Given the description of an element on the screen output the (x, y) to click on. 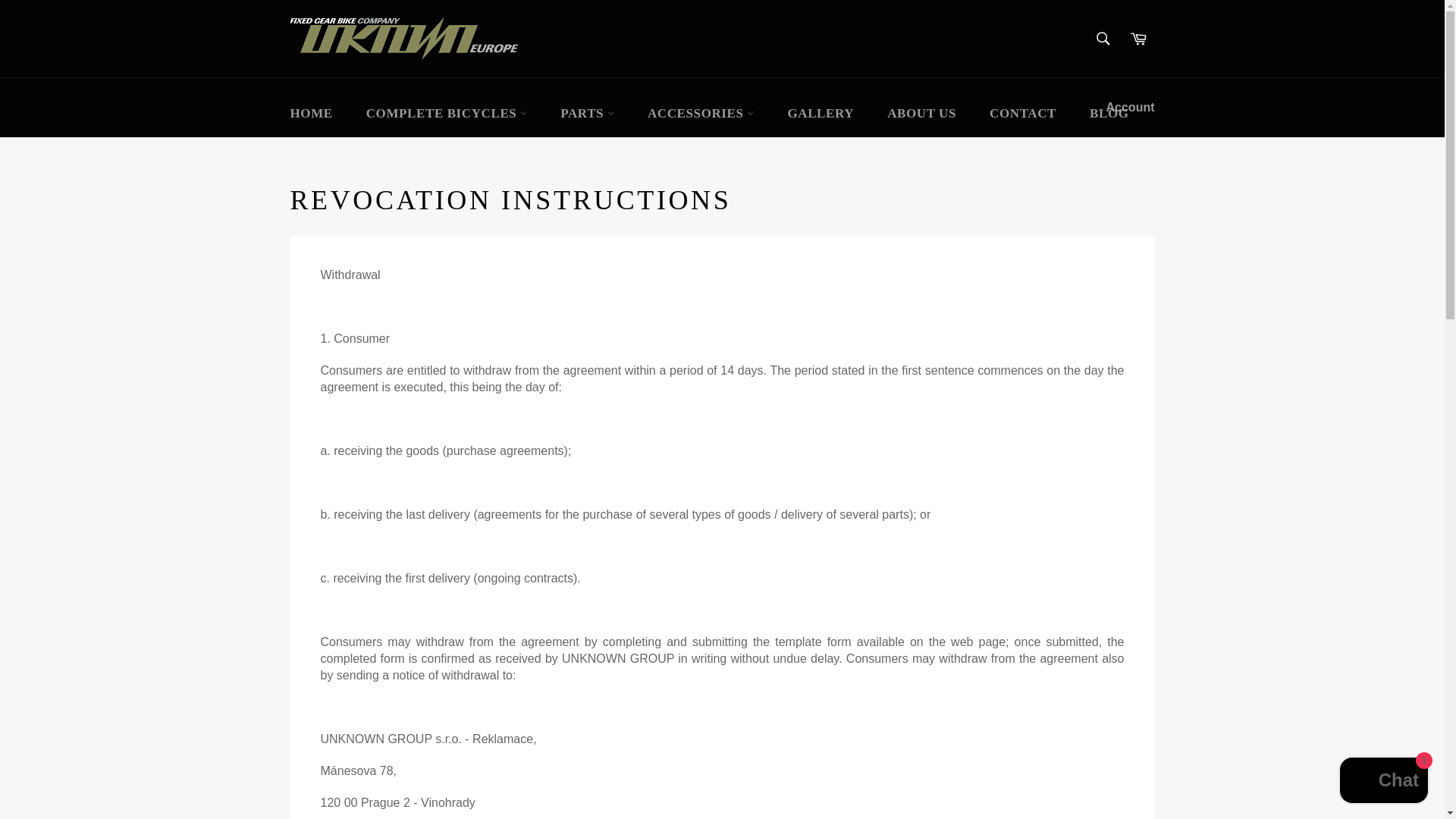
Cart (1138, 38)
Search (1103, 38)
COMPLETE BICYCLES (446, 113)
Shopify online store chat (1383, 781)
HOME (311, 113)
